Given the description of an element on the screen output the (x, y) to click on. 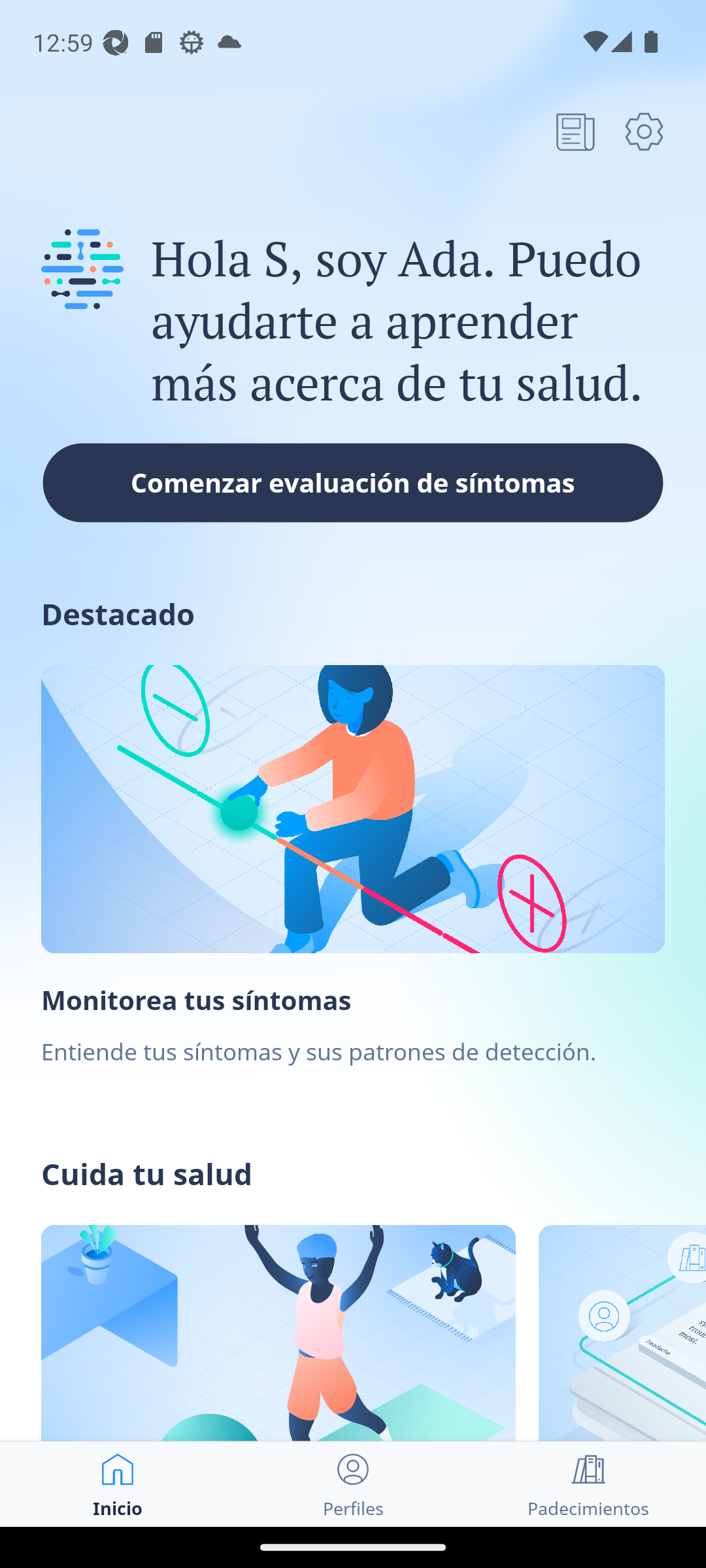
article icon , open articles (574, 131)
settings icon, open settings (644, 131)
Comenzar evaluación de síntomas (352, 482)
Inicio (117, 1484)
Perfiles (352, 1484)
Padecimientos (588, 1484)
